Given the description of an element on the screen output the (x, y) to click on. 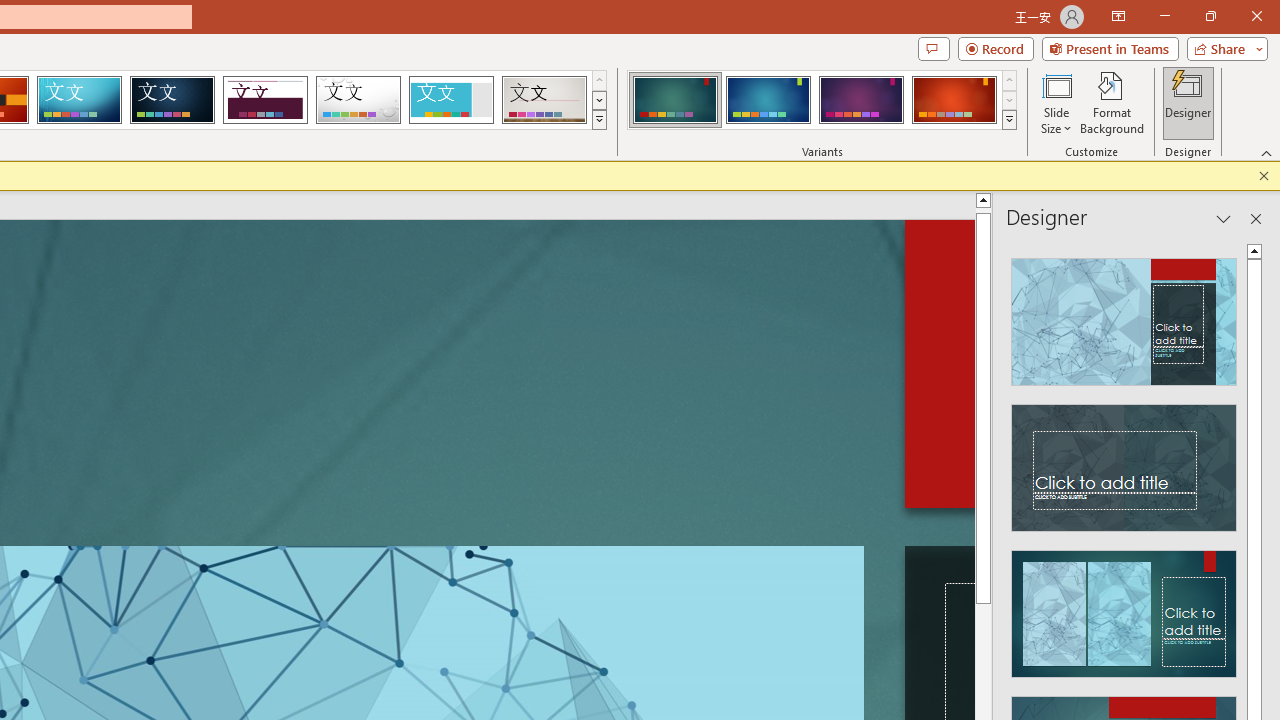
Close this message (1263, 176)
Ion Variant 2 (768, 100)
Decorative Locked (934, 370)
Ion Variant 3 (861, 100)
Ion Variant 4 (953, 100)
